Given the description of an element on the screen output the (x, y) to click on. 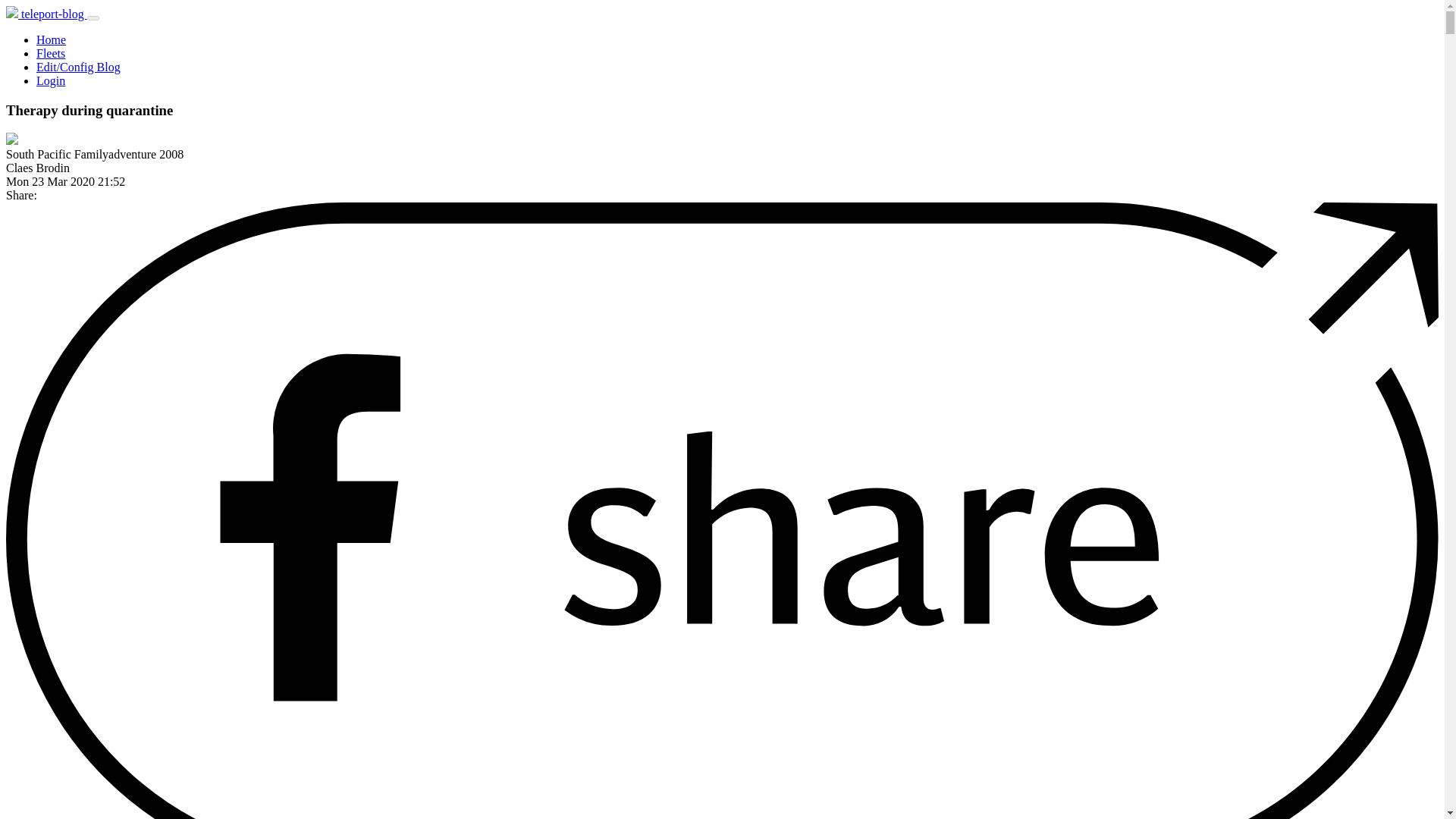
Home (50, 39)
Fleets (50, 52)
teleport-blog (46, 13)
Login (50, 80)
